Given the description of an element on the screen output the (x, y) to click on. 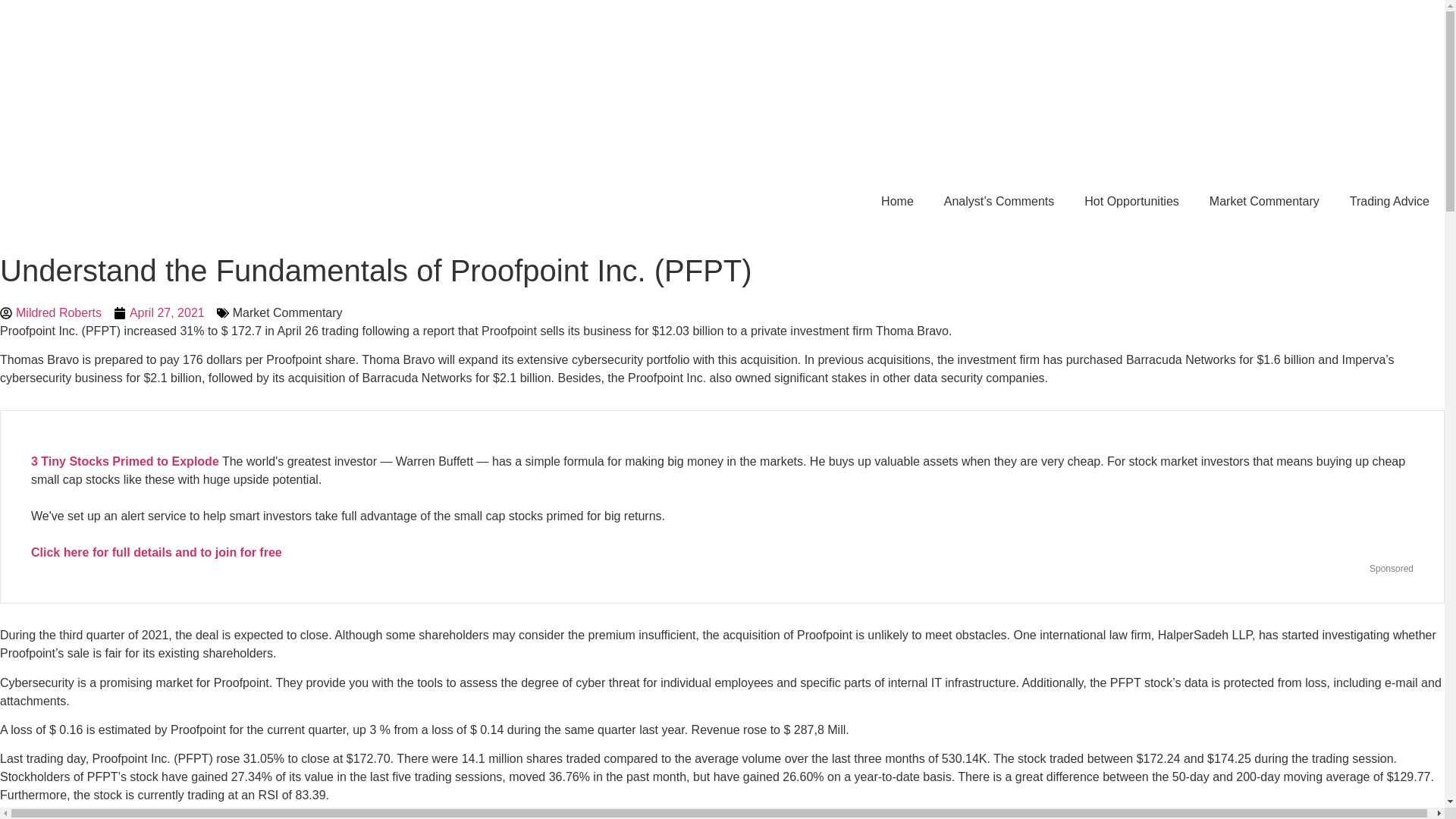
Click here for full details and to join for free (156, 552)
3 Tiny Stocks Primed to Explode (124, 461)
Hot Opportunities (1130, 201)
April 27, 2021 (159, 312)
Market Commentary (1264, 201)
Trading Advice (1389, 201)
Proofpoint (411, 818)
Home (897, 201)
